Given the description of an element on the screen output the (x, y) to click on. 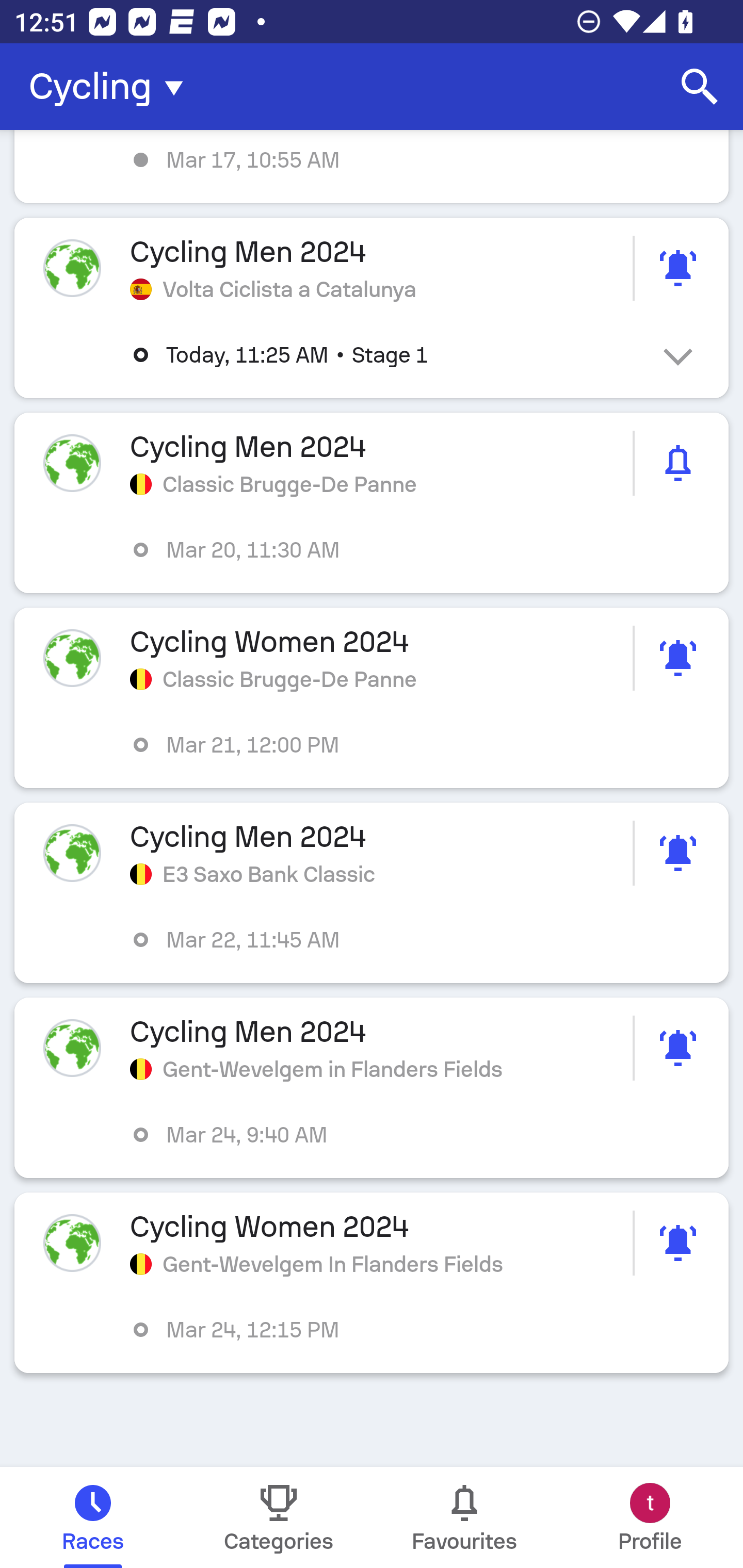
Cycling (111, 86)
Search (699, 86)
Today, 11:25 AM • Stage 1 (385, 355)
Categories (278, 1517)
Favourites (464, 1517)
Profile (650, 1517)
